Given the description of an element on the screen output the (x, y) to click on. 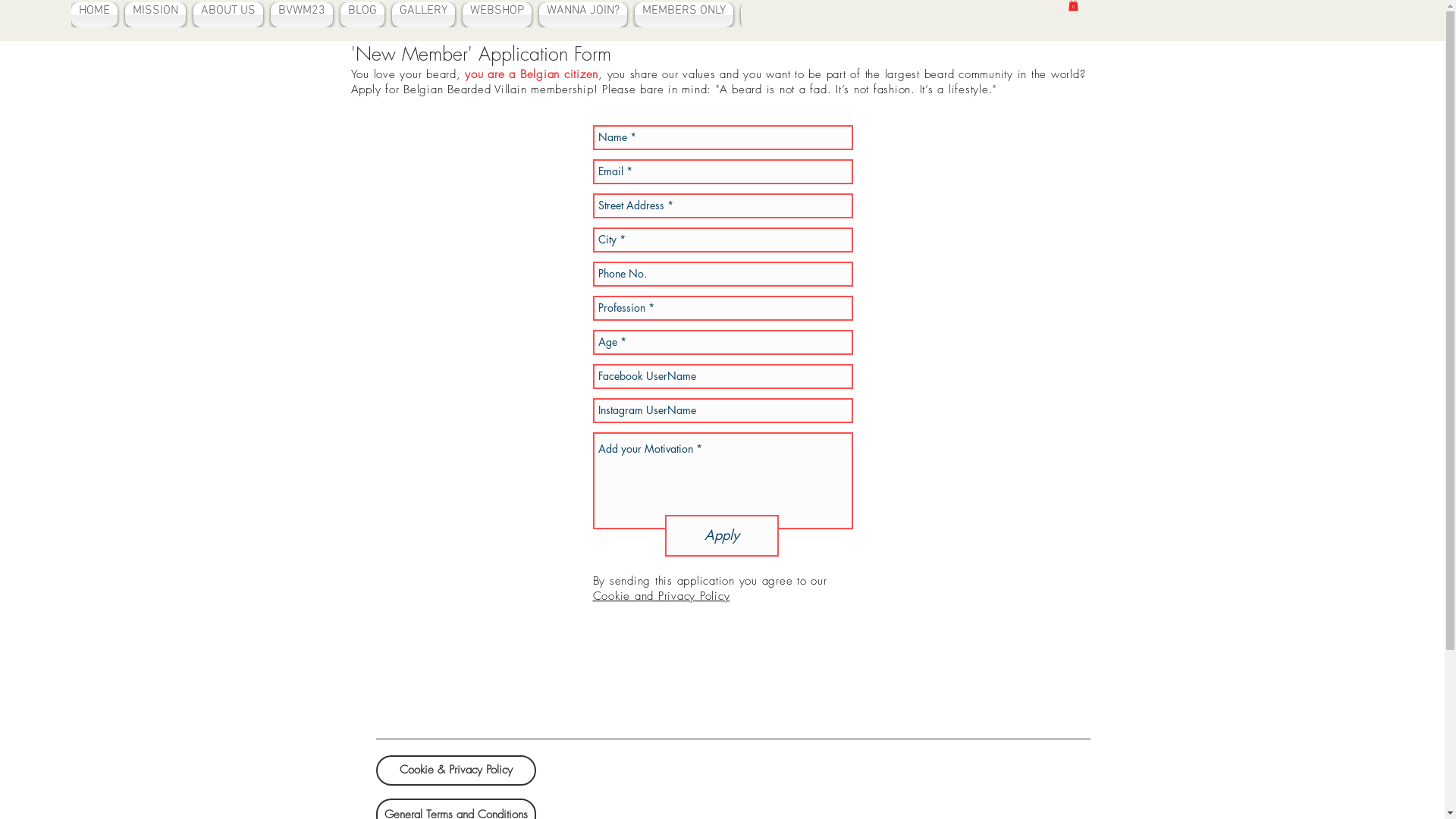
Apply Element type: text (721, 535)
ABOUT US Element type: text (227, 14)
CONTACT Element type: text (770, 14)
HOME Element type: text (96, 14)
Cookie and Privacy Policy Element type: text (661, 595)
Cookie & Privacy Policy Element type: text (456, 770)
GALLERY Element type: text (423, 14)
BLOG Element type: text (362, 14)
MISSION Element type: text (155, 14)
